Given the description of an element on the screen output the (x, y) to click on. 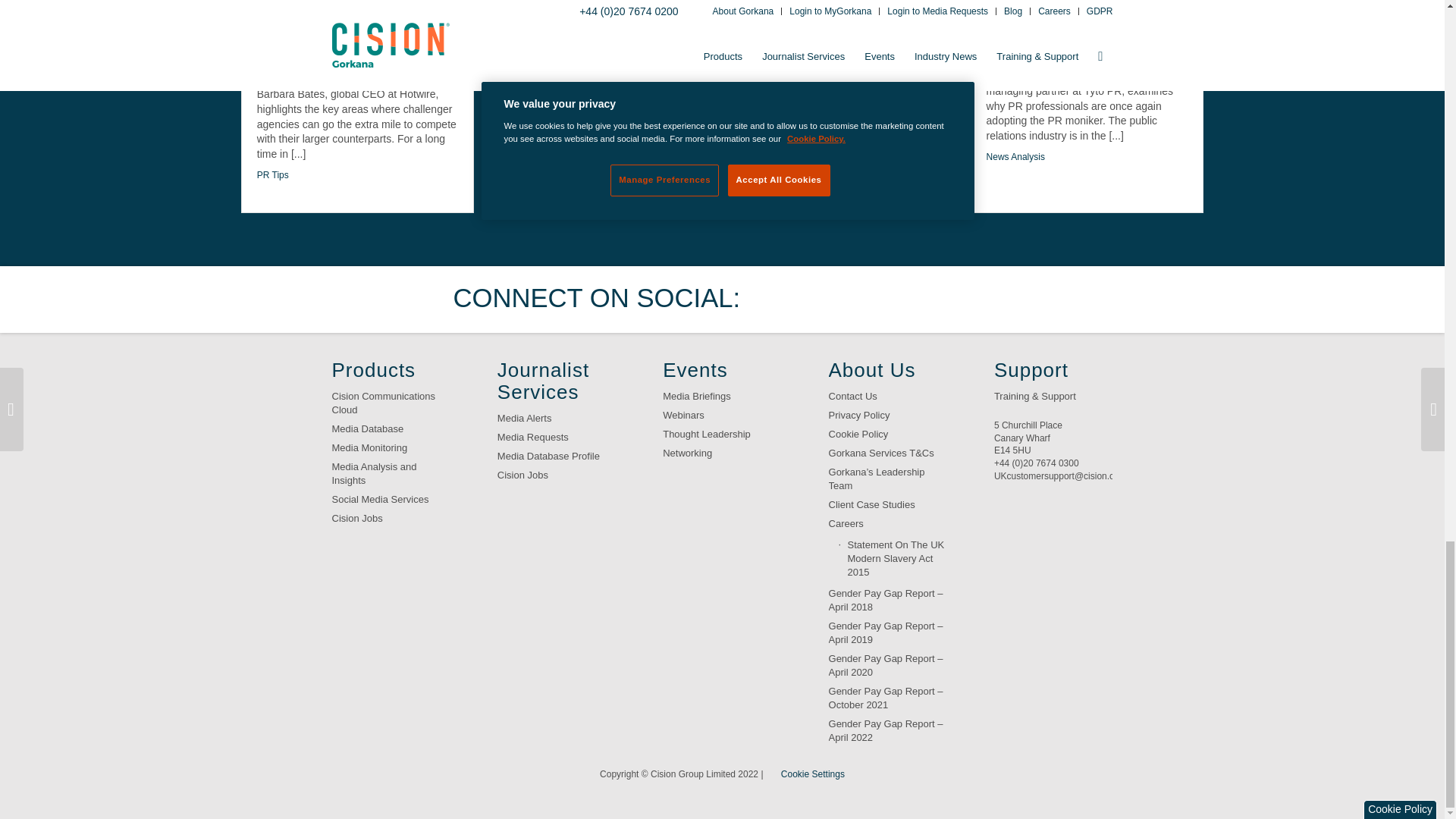
connect on Facebook (824, 298)
connect on Linkedin (872, 298)
connect on Twitter (777, 298)
connect on YouTube (918, 298)
connect on Instagram (966, 298)
